Given the description of an element on the screen output the (x, y) to click on. 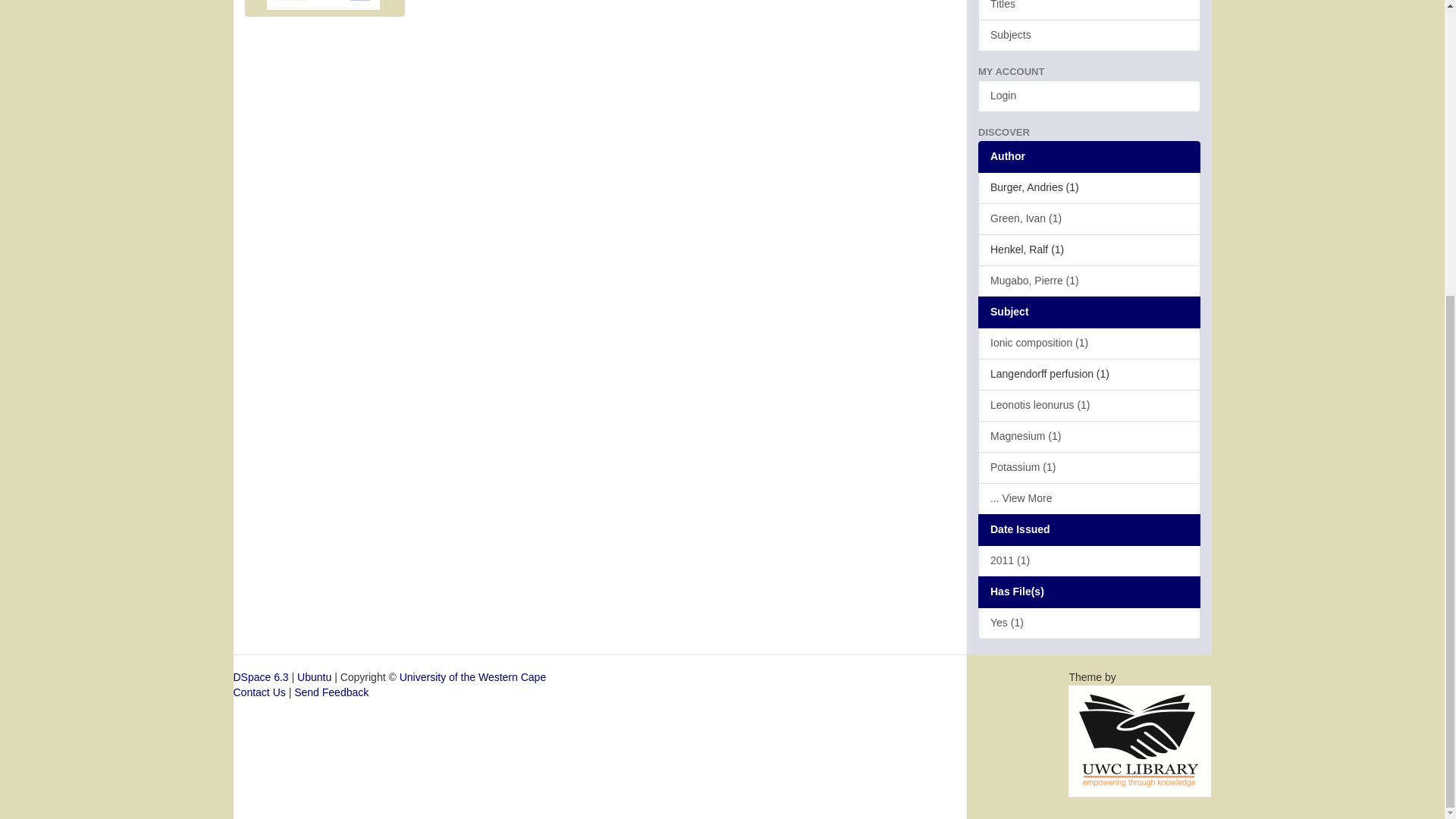
Atmire NV (1139, 739)
